Given the description of an element on the screen output the (x, y) to click on. 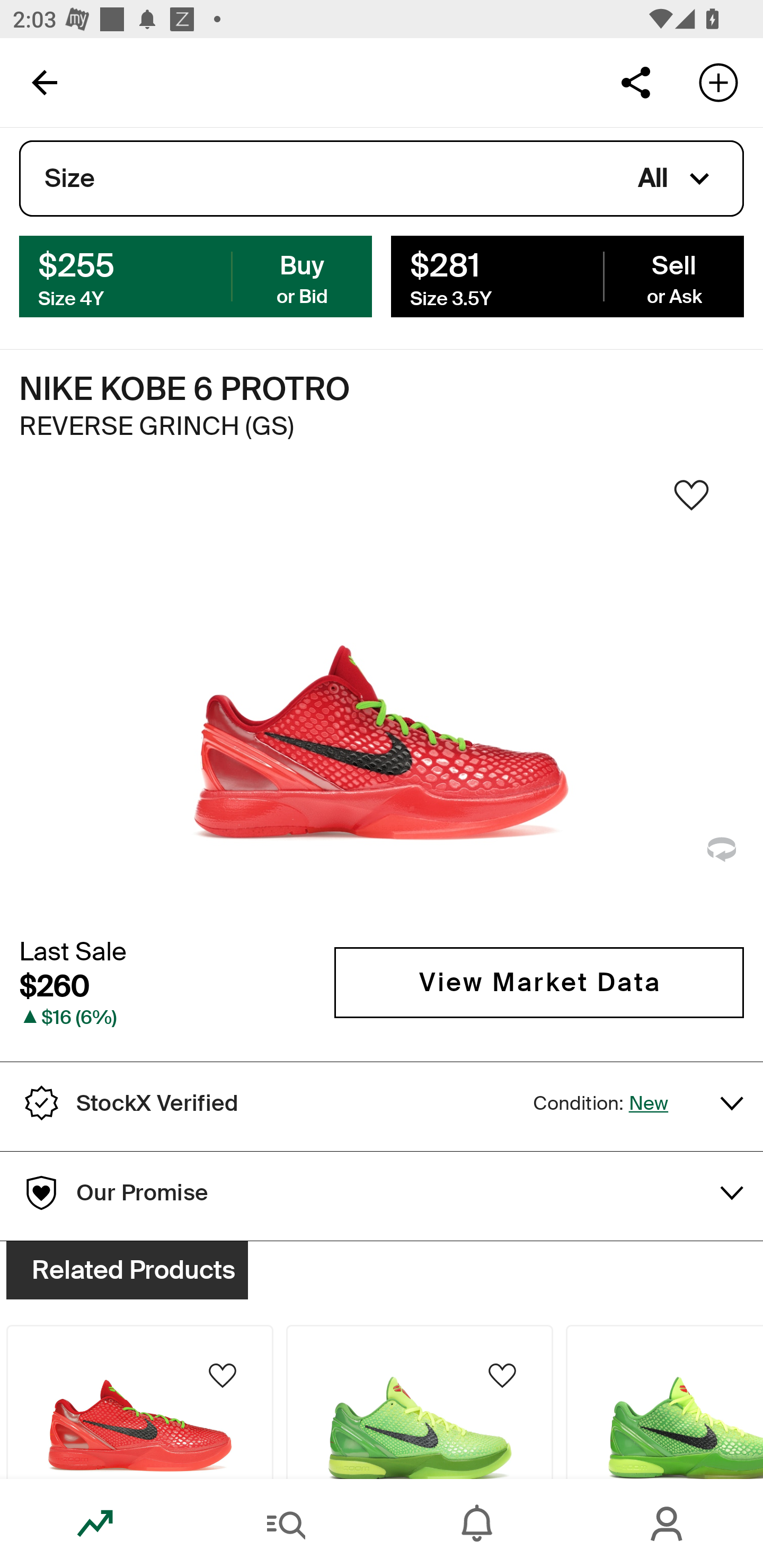
Share (635, 81)
Add (718, 81)
Size All (381, 178)
$255 Buy Size 4Y or Bid (195, 275)
$281 Sell Size 3.5Y or Ask (566, 275)
Sneaker Image (381, 699)
View Market Data (538, 982)
Product Image (139, 1401)
Product Image (419, 1401)
Product Image (664, 1401)
Search (285, 1523)
Inbox (476, 1523)
Account (667, 1523)
